Given the description of an element on the screen output the (x, y) to click on. 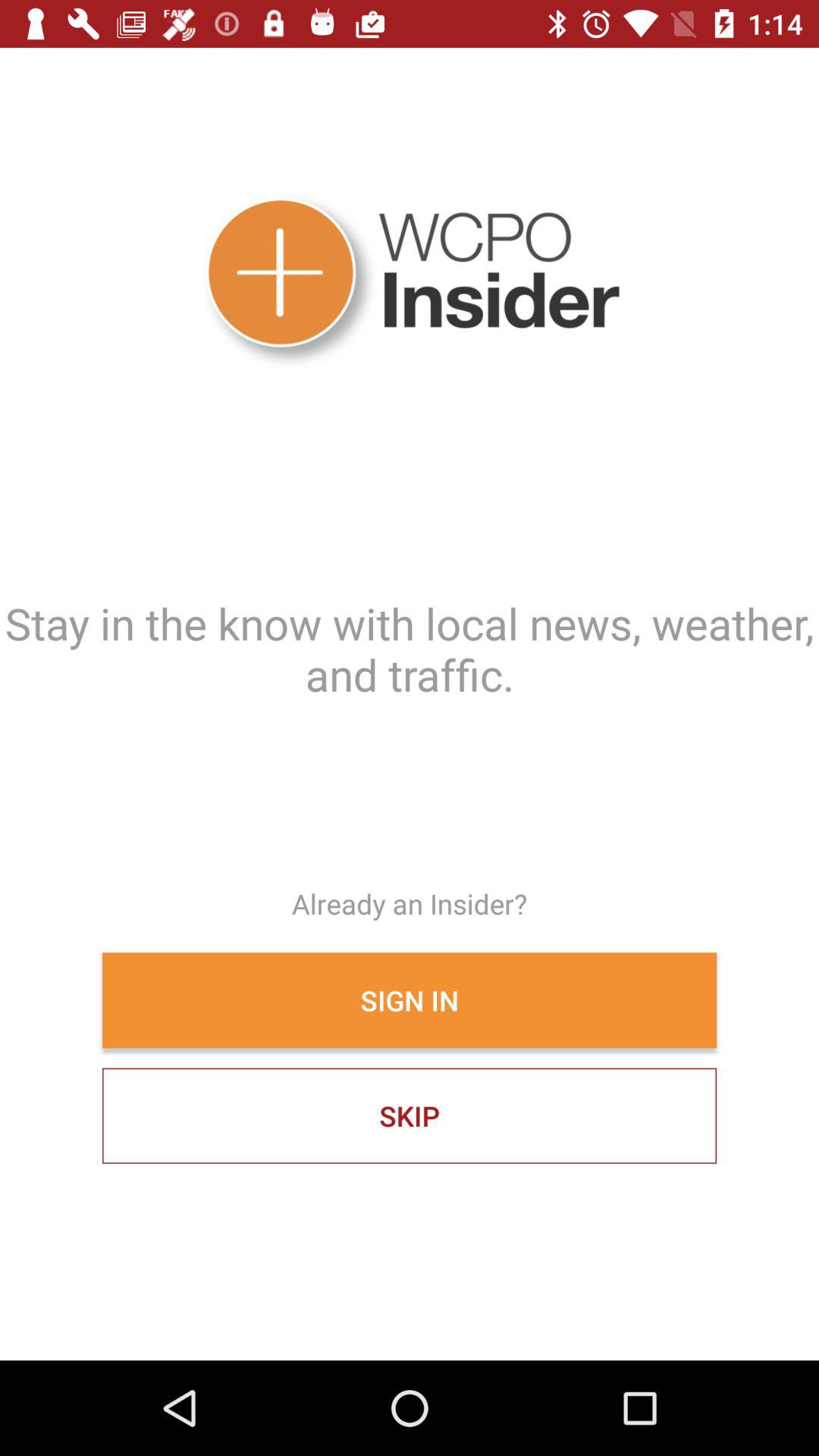
turn off sign in (409, 1000)
